Given the description of an element on the screen output the (x, y) to click on. 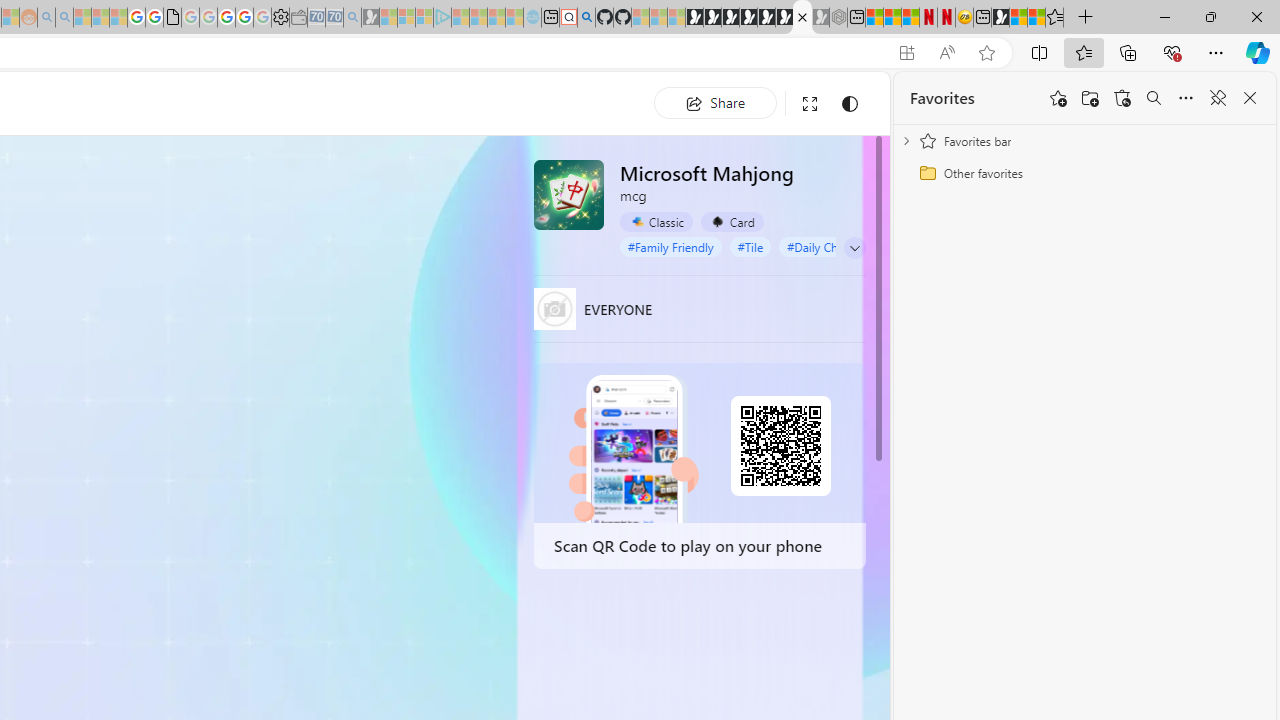
App available. Install Microsoft Mahjong (906, 53)
Close favorites (1250, 98)
